Given the description of an element on the screen output the (x, y) to click on. 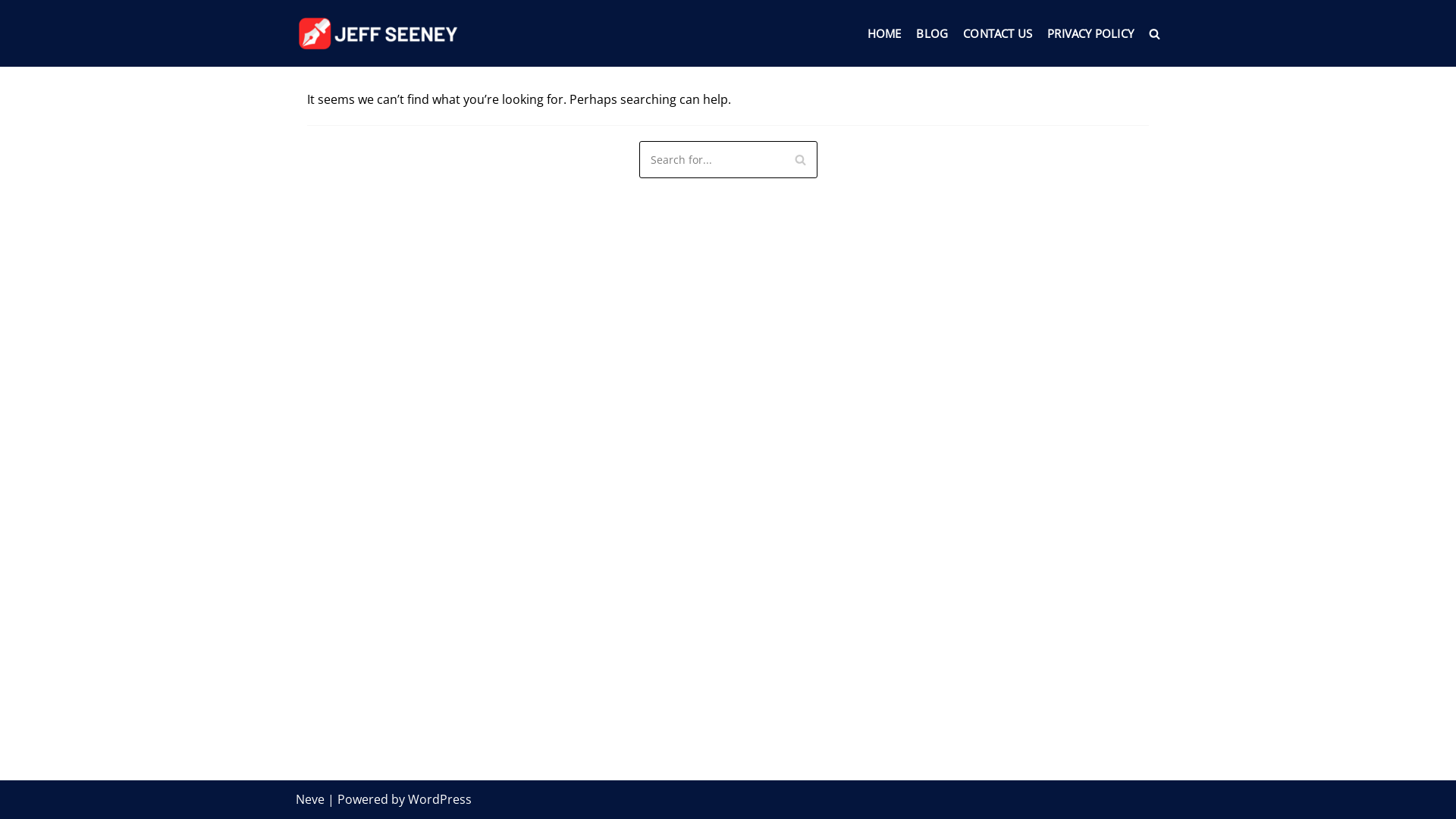
HOME Element type: text (884, 33)
BLOG Element type: text (931, 33)
Skip to content Element type: text (15, 7)
Jeff Seeney Element type: hover (380, 33)
PRIVACY POLICY Element type: text (1090, 33)
Neve Element type: text (309, 798)
CONTACT US Element type: text (997, 33)
WordPress Element type: text (439, 798)
